Given the description of an element on the screen output the (x, y) to click on. 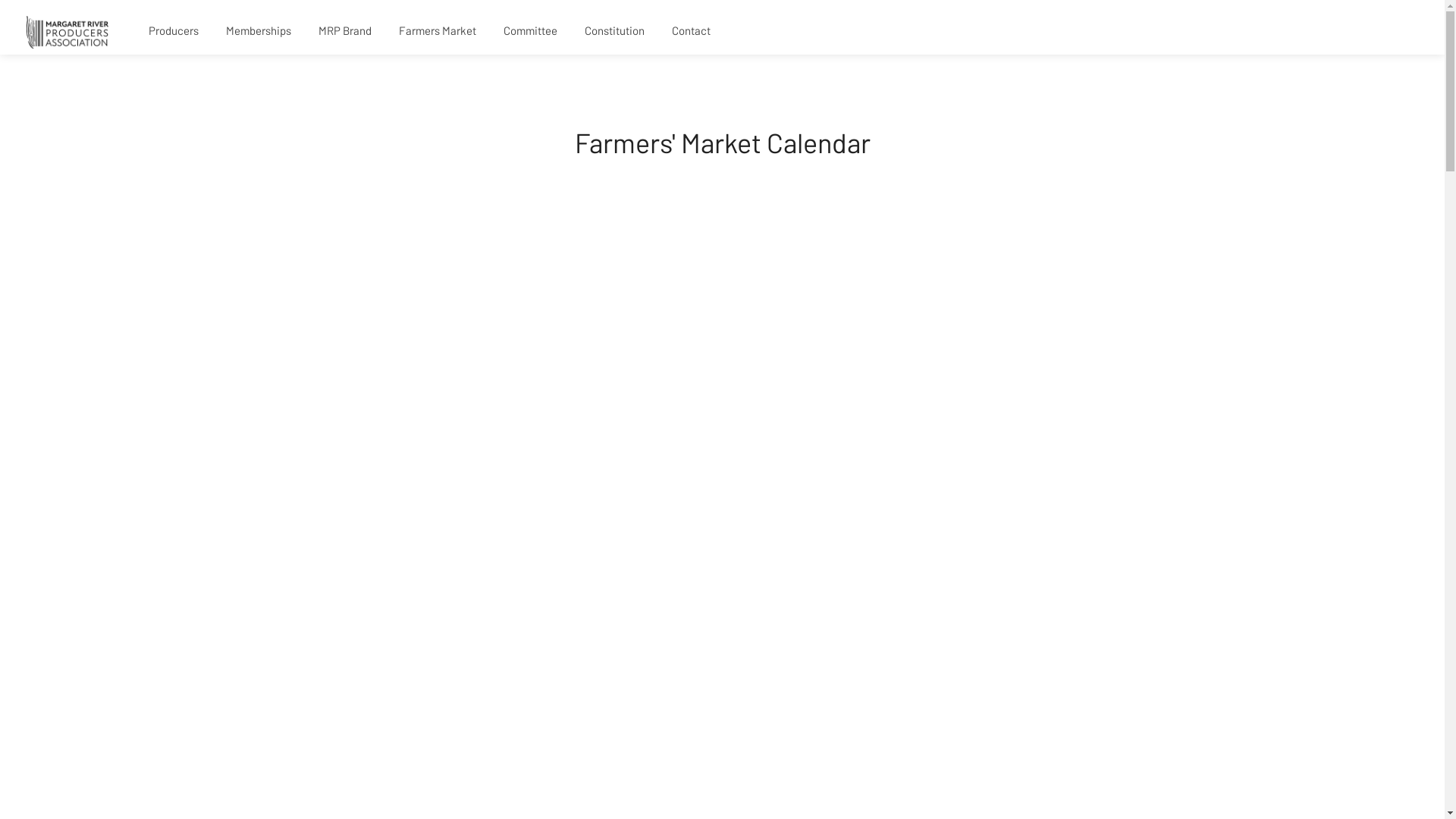
Committee Element type: text (530, 30)
MRP Brand Element type: text (344, 30)
Farmers Market Element type: text (437, 30)
Contact Element type: text (690, 30)
Memberships Element type: text (258, 30)
Margaret River Producers Association Element type: hover (67, 30)
Producers Element type: text (173, 30)
Constitution Element type: text (614, 30)
